Given the description of an element on the screen output the (x, y) to click on. 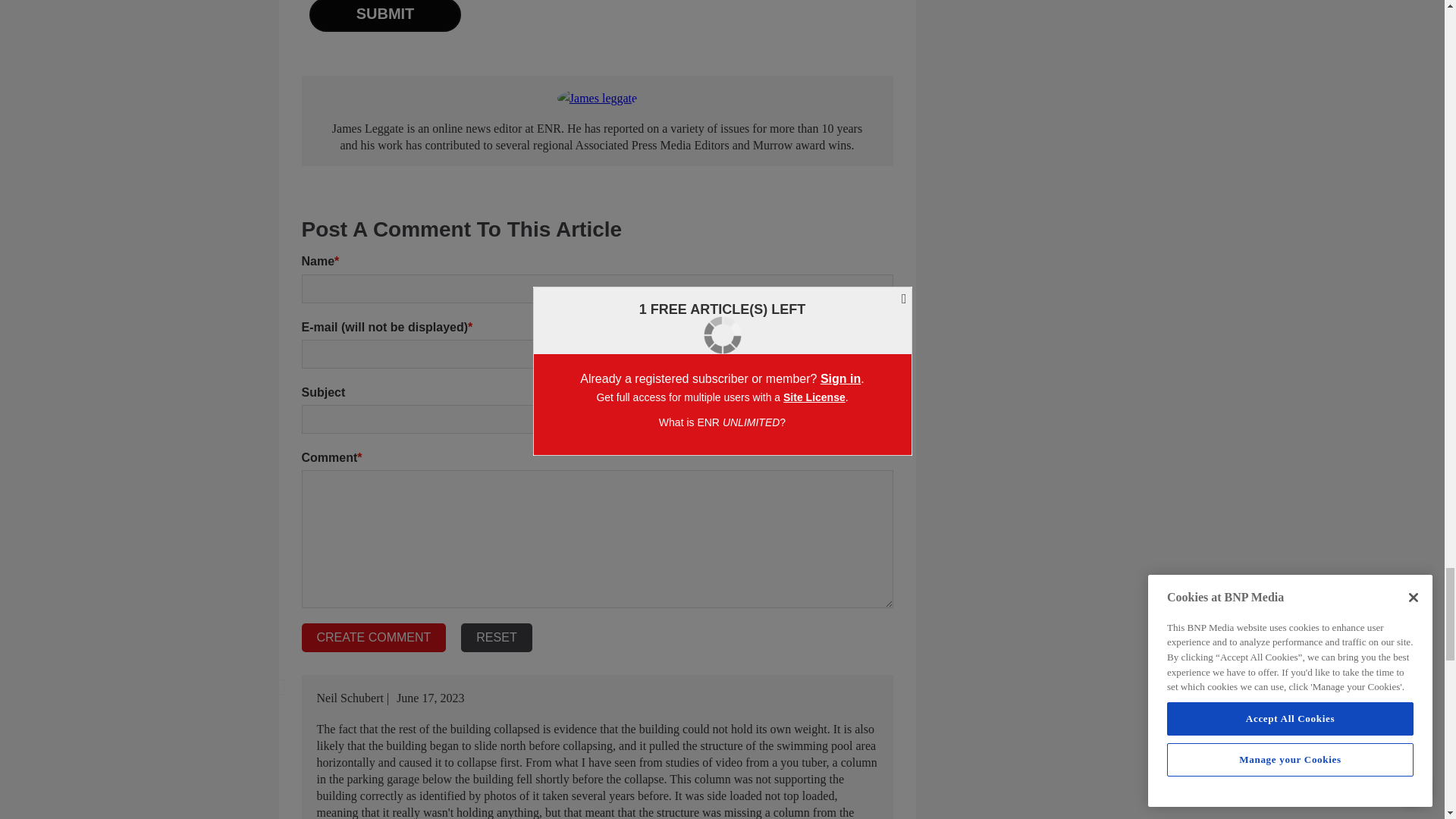
Reset (496, 637)
Interaction questions (597, 19)
Create Comment (373, 637)
